Given the description of an element on the screen output the (x, y) to click on. 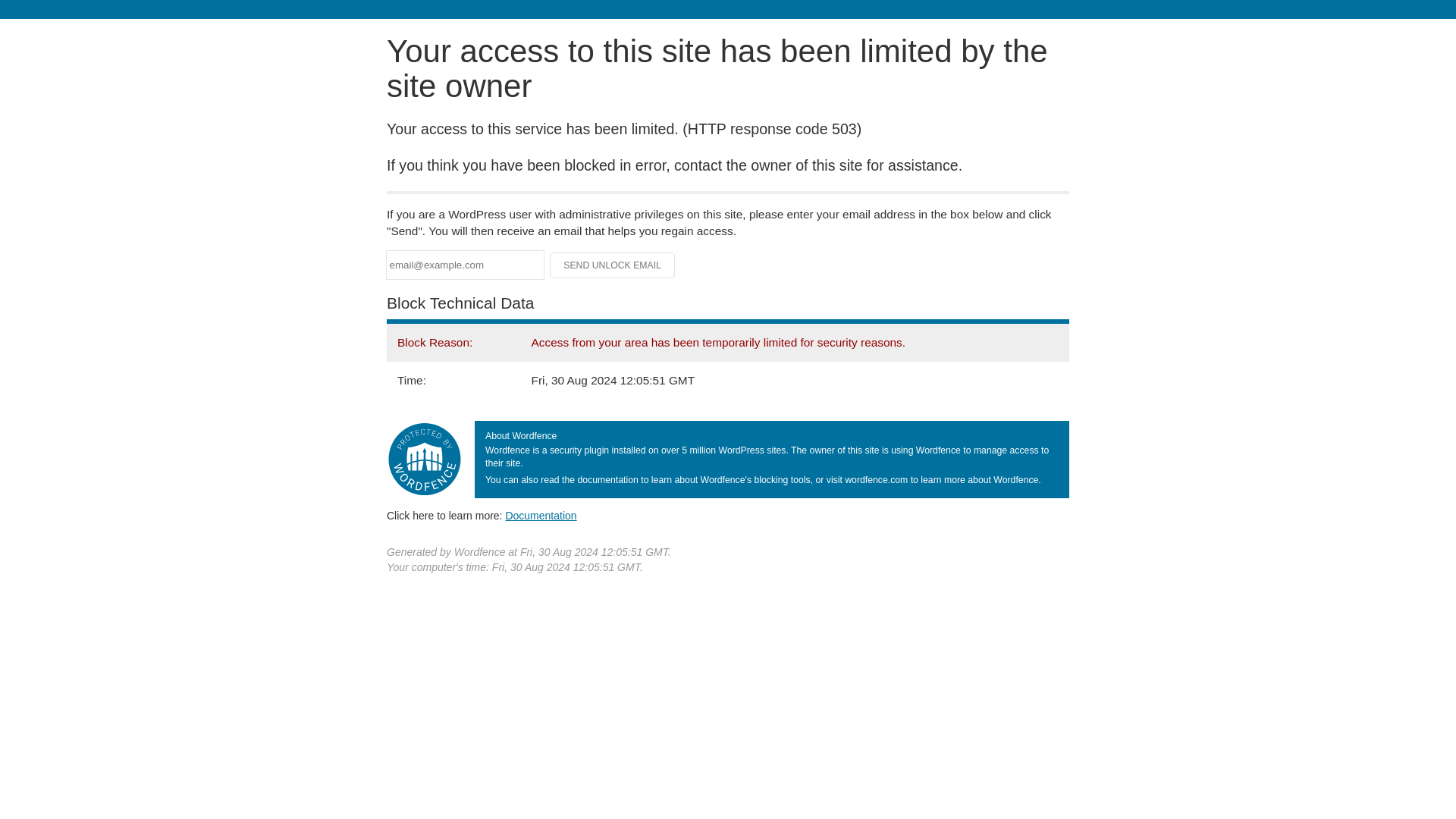
Send Unlock Email (612, 265)
Send Unlock Email (612, 265)
Documentation (540, 515)
